Given the description of an element on the screen output the (x, y) to click on. 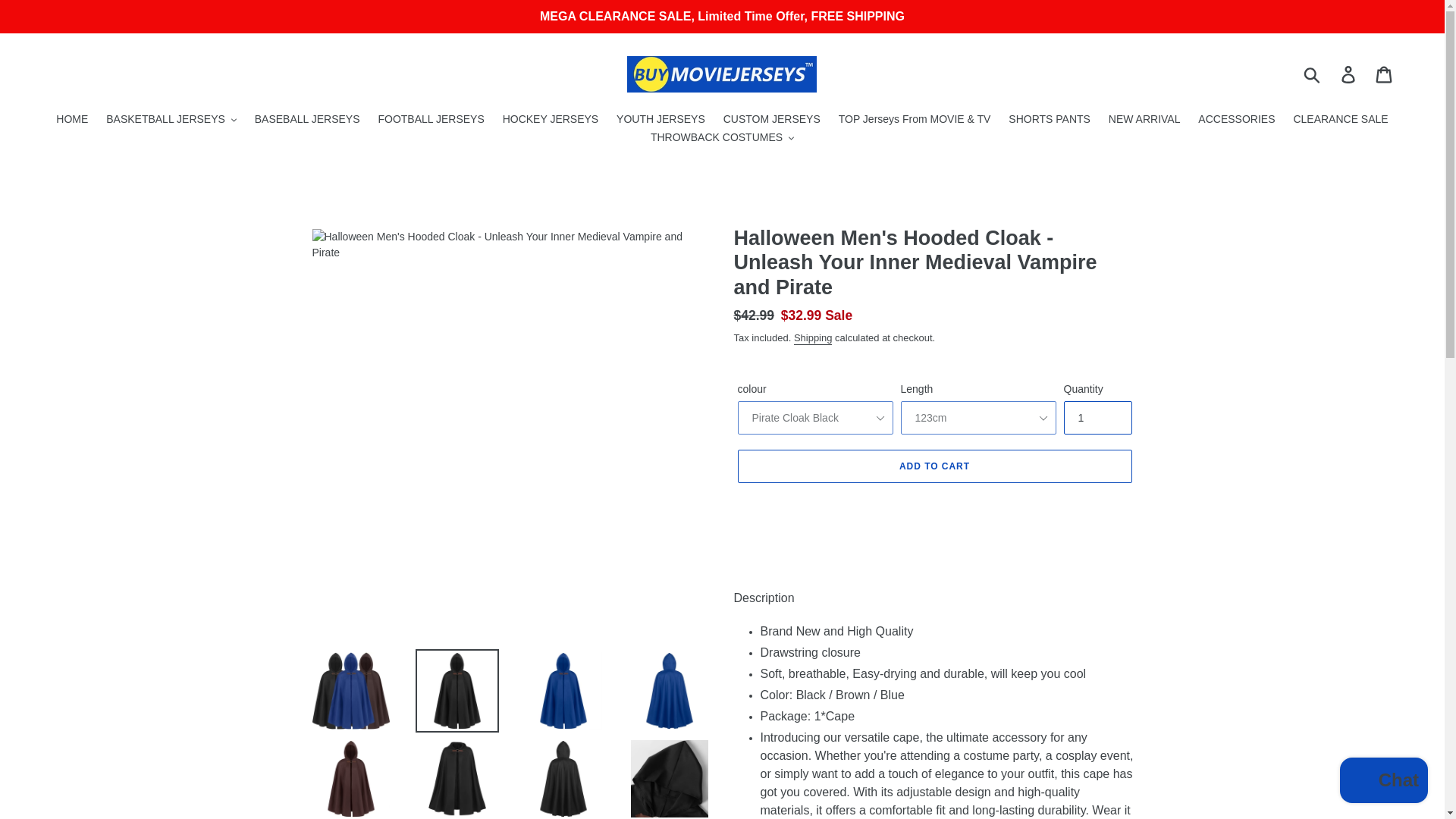
Submit (1313, 73)
Shopify online store chat (1383, 781)
HOME (72, 120)
Log in (1349, 73)
Cart (1385, 73)
1 (1096, 417)
